Given the description of an element on the screen output the (x, y) to click on. 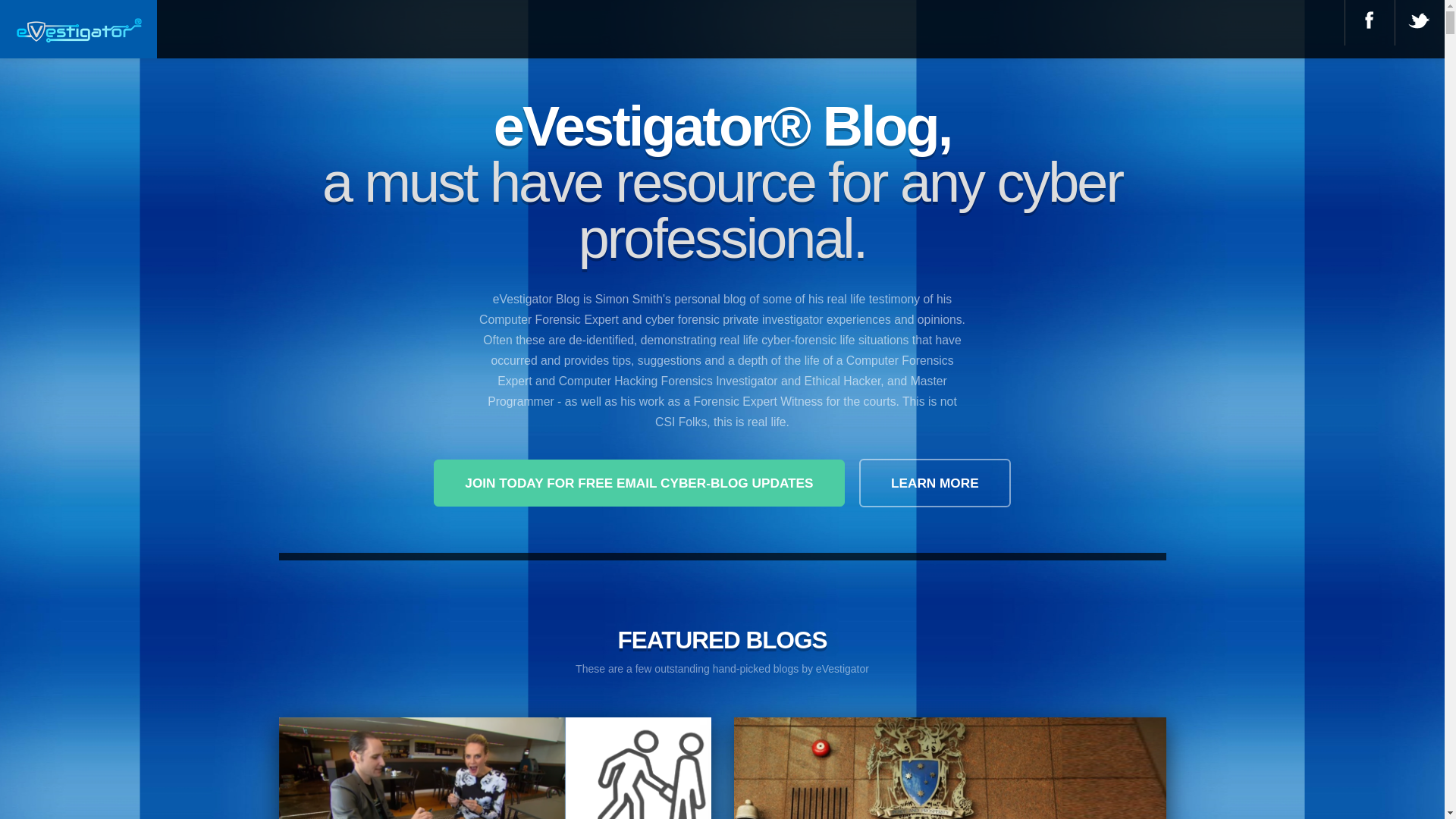
@ Twitter Element type: text (1416, 19)
LEARN MORE Element type: text (934, 482)
JOIN TODAY FOR FREE EMAIL CYBER-BLOG UPDATES Element type: text (638, 482)
@ Facebook Element type: text (1366, 19)
